Given the description of an element on the screen output the (x, y) to click on. 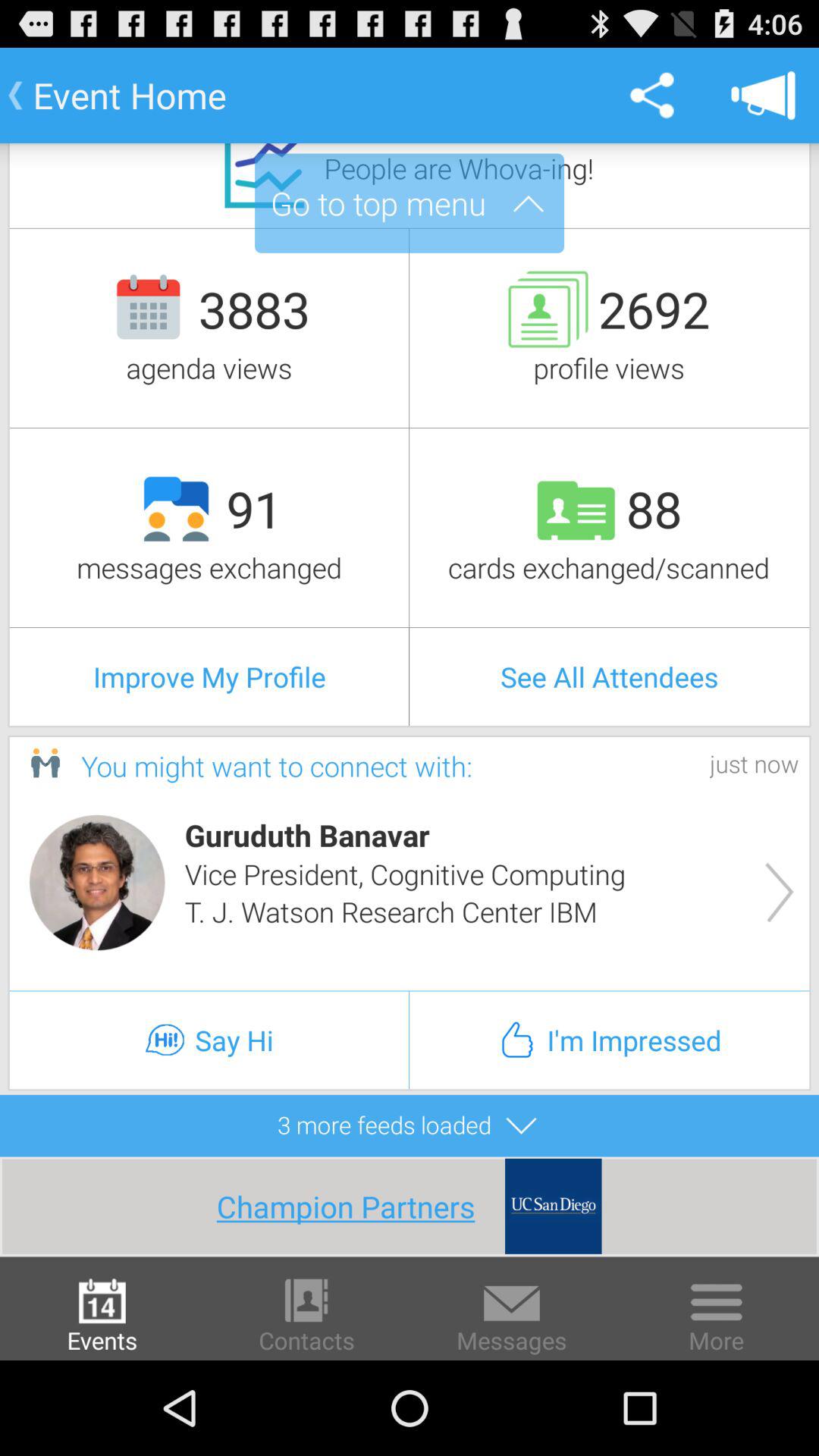
click (96, 882)
